Given the description of an element on the screen output the (x, y) to click on. 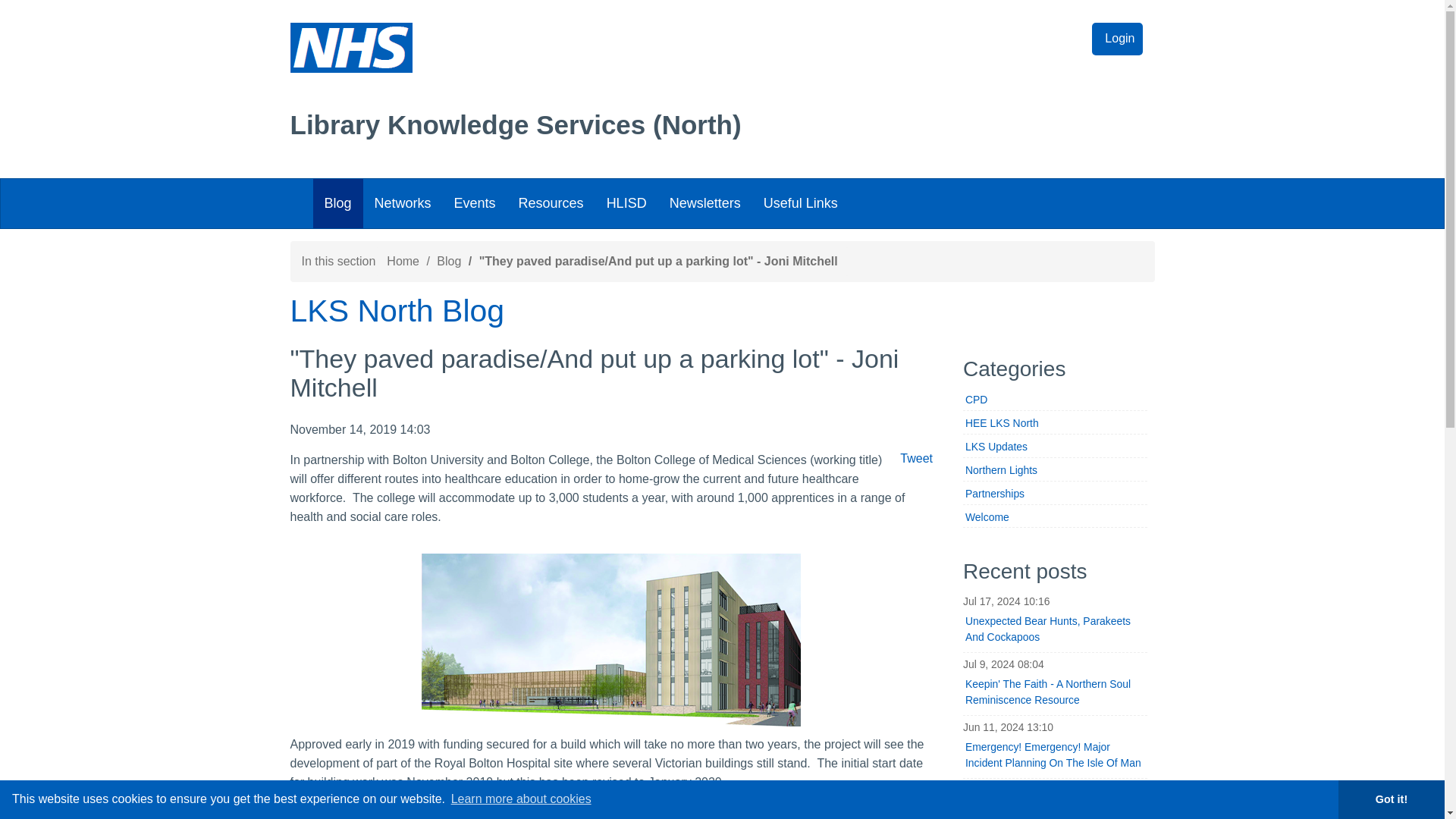
HLN (457, 244)
Literature Searching Modules (607, 254)
Category: Partnerships (1054, 494)
Northern Health and Wellbeing Network (467, 254)
LIHNN (442, 244)
Category: Northern Lights (1054, 470)
New Starters (614, 244)
Category: Welcome (1054, 516)
Category: HEE LKS North (1054, 423)
Category: CPD (1054, 399)
Current Awareness (627, 244)
Networks (402, 203)
Union List of Journals (623, 244)
Learn more about cookies (520, 798)
Horizon Scanning (626, 244)
